Given the description of an element on the screen output the (x, y) to click on. 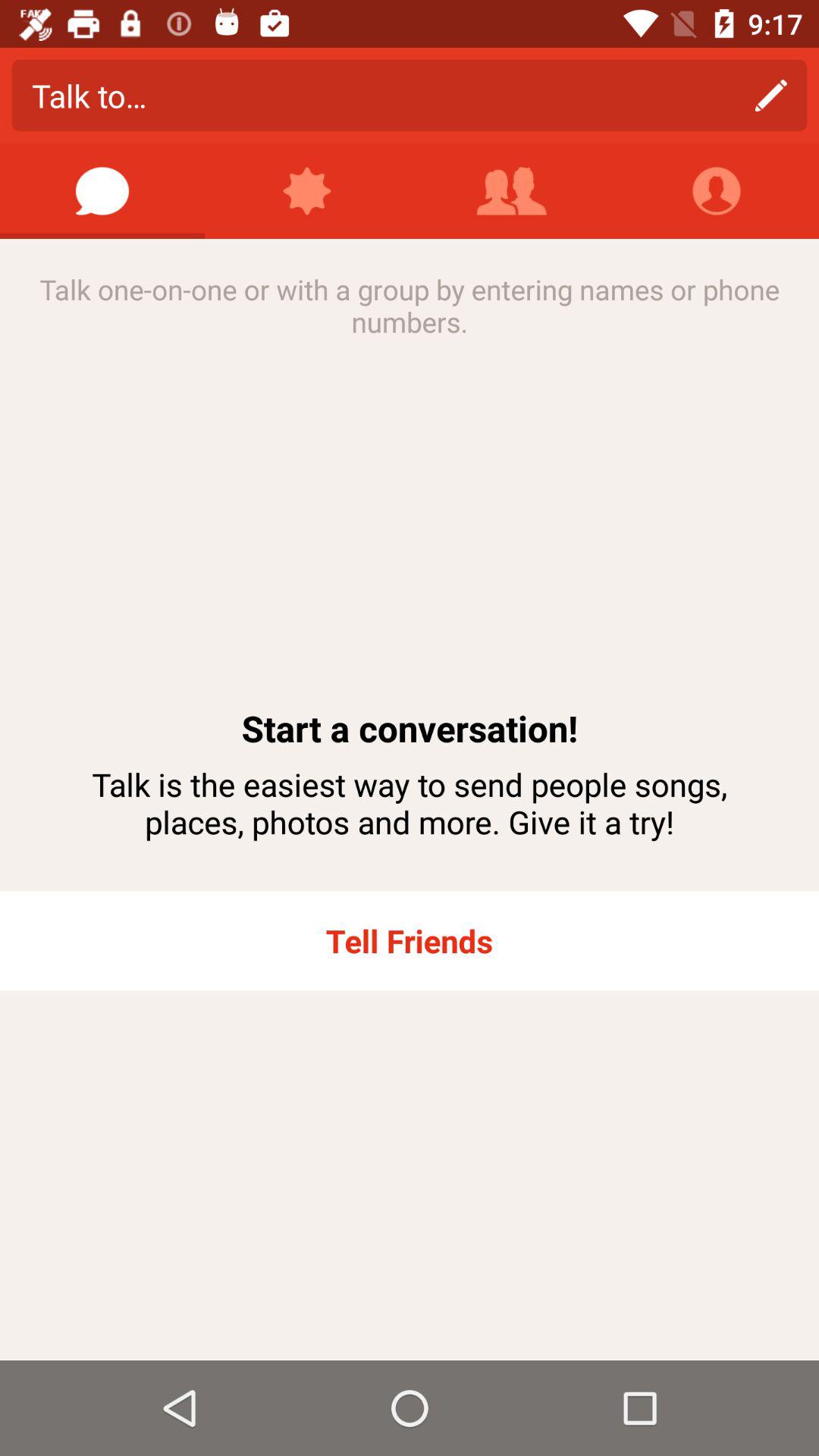
sms (102, 190)
